Given the description of an element on the screen output the (x, y) to click on. 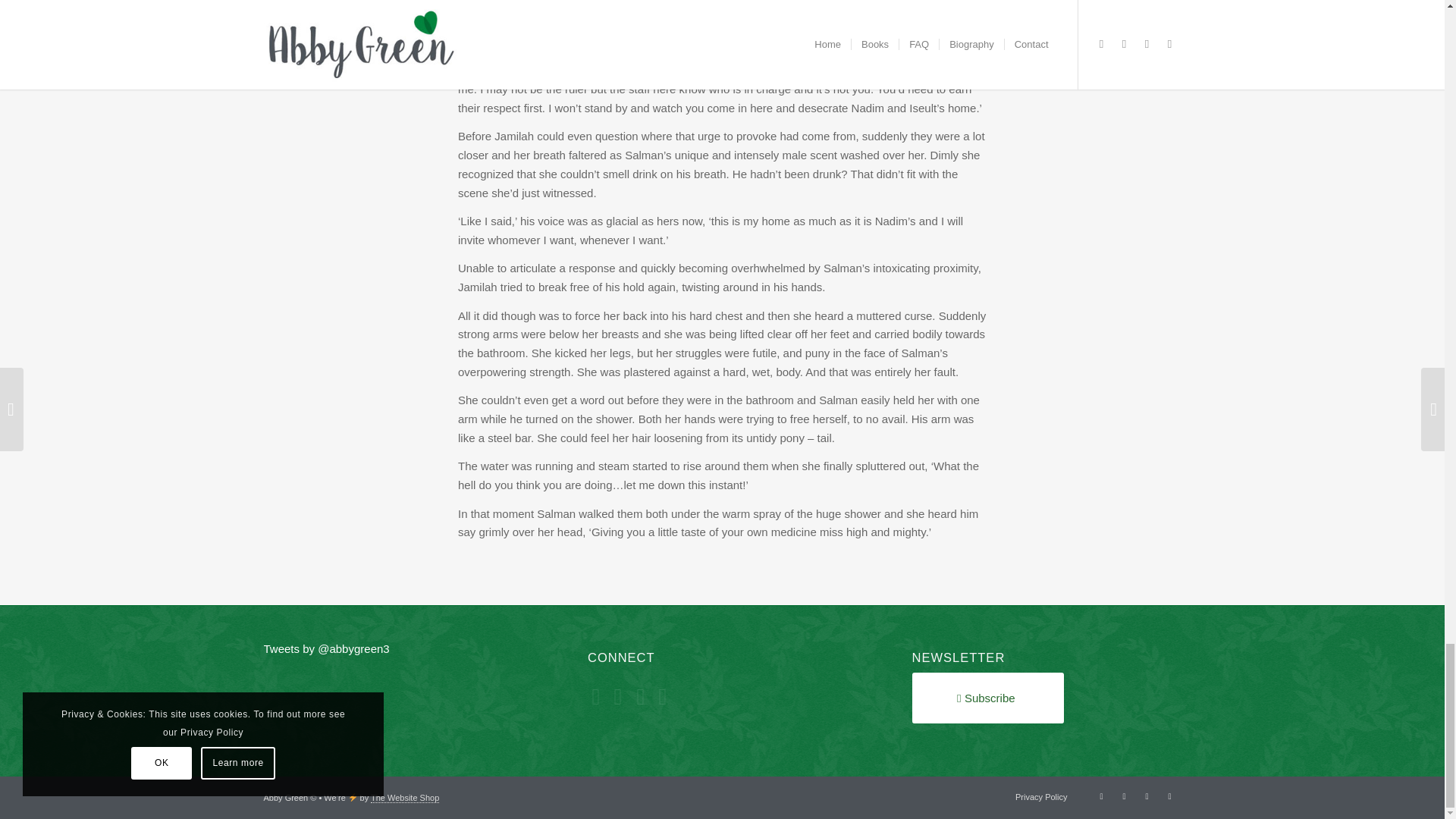
The Website Shop (405, 798)
Twitter (1101, 795)
Pinterest (1146, 795)
Subscribe (988, 697)
Privacy Policy (1040, 796)
Instagram (1169, 795)
Goodreads (1124, 795)
